Given the description of an element on the screen output the (x, y) to click on. 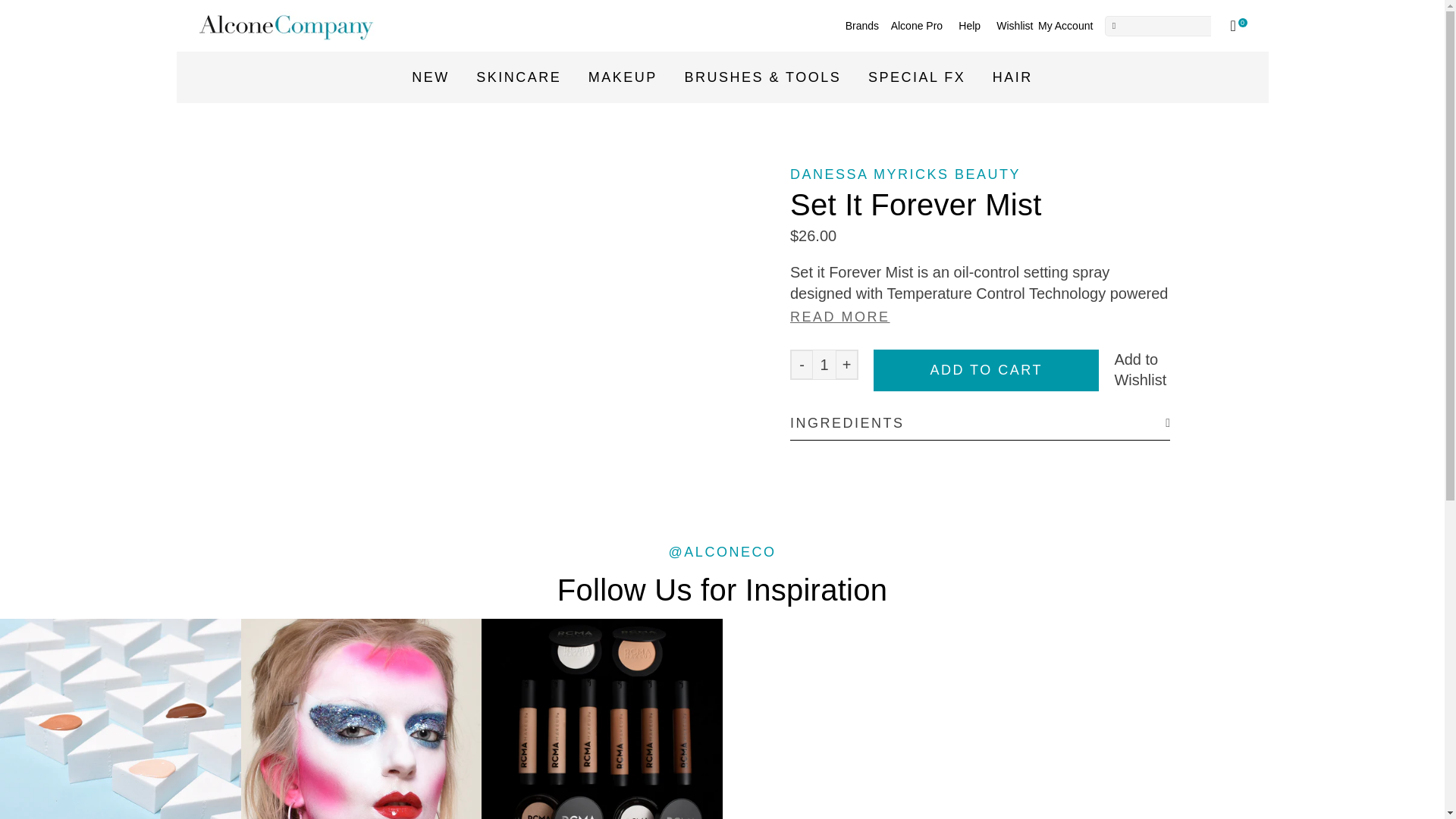
SKINCARE (518, 77)
1 (823, 364)
Wishlist (1013, 25)
Brands (862, 25)
NEW (430, 77)
MAKEUP (622, 77)
0 (1245, 25)
My Account (1065, 25)
Alcone Pro (916, 25)
Help (970, 25)
